Given the description of an element on the screen output the (x, y) to click on. 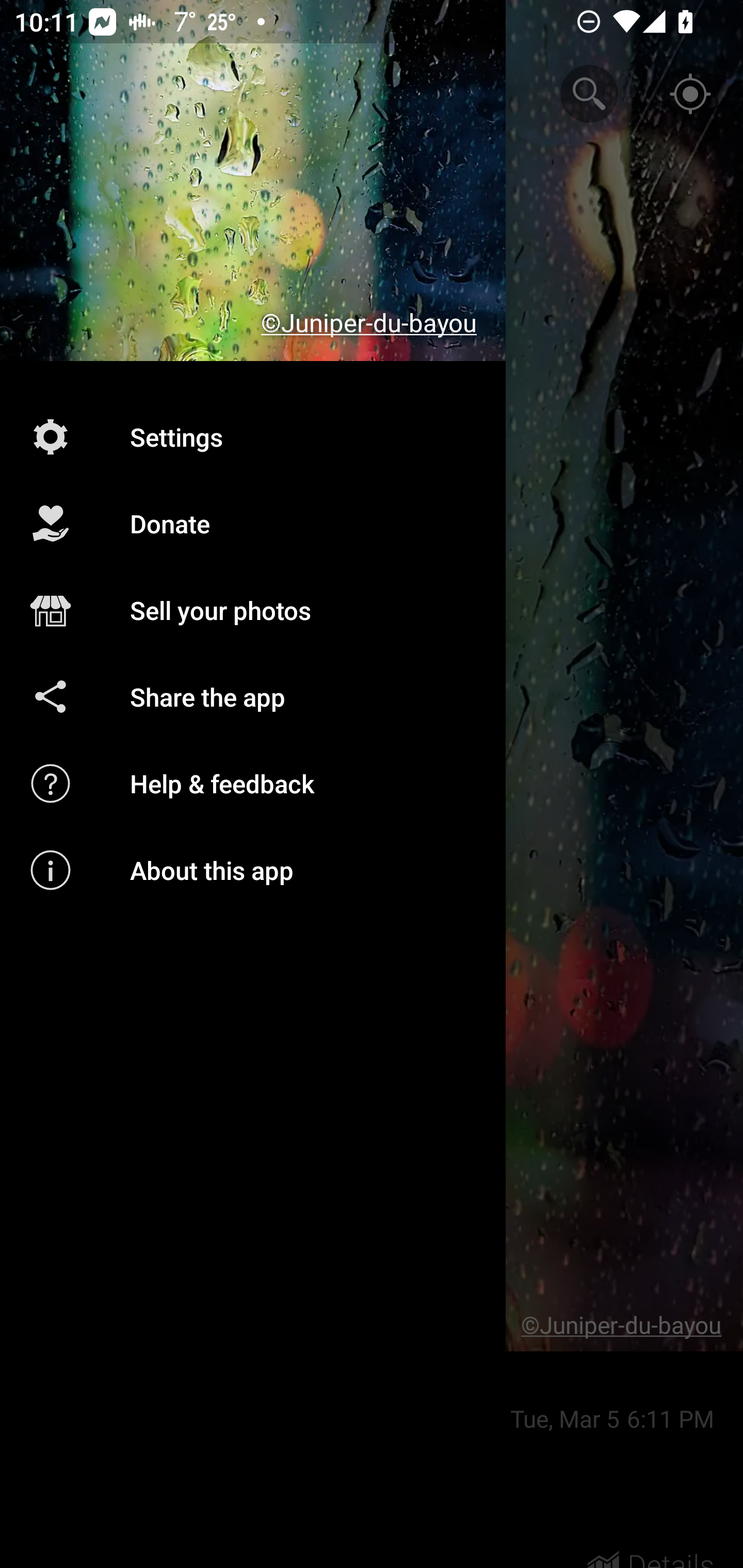
©Juniper-du-bayou (252, 180)
Settings (252, 436)
Donate (252, 523)
Sell your photos (252, 610)
Share the app (252, 696)
Help & feedback (252, 783)
About this app (252, 870)
